Given the description of an element on the screen output the (x, y) to click on. 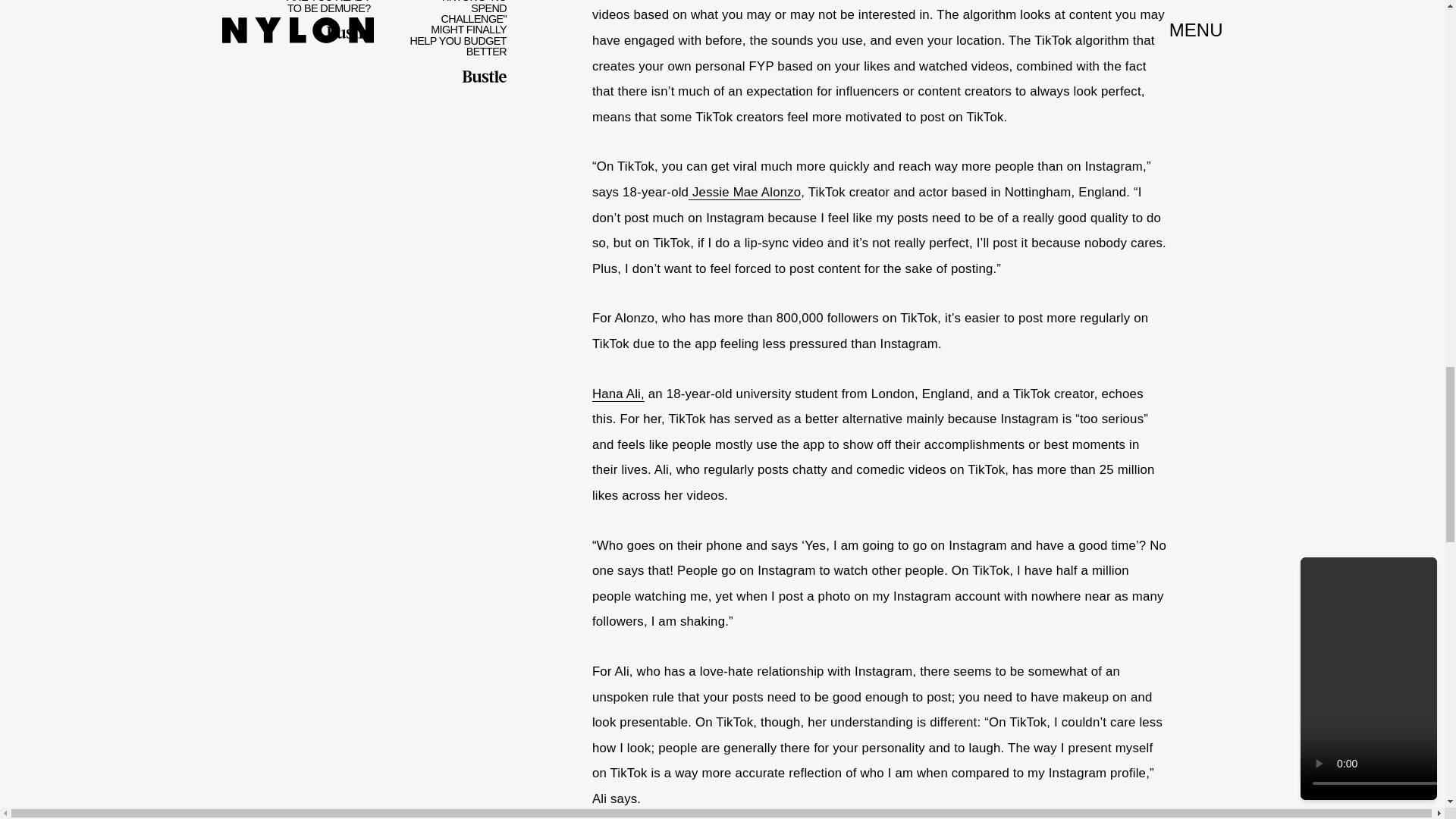
Hana Ali, (618, 394)
Jessie Mae Alonzo (744, 192)
ARE YOU READY TO BE DEMURE? (314, 41)
